Given the description of an element on the screen output the (x, y) to click on. 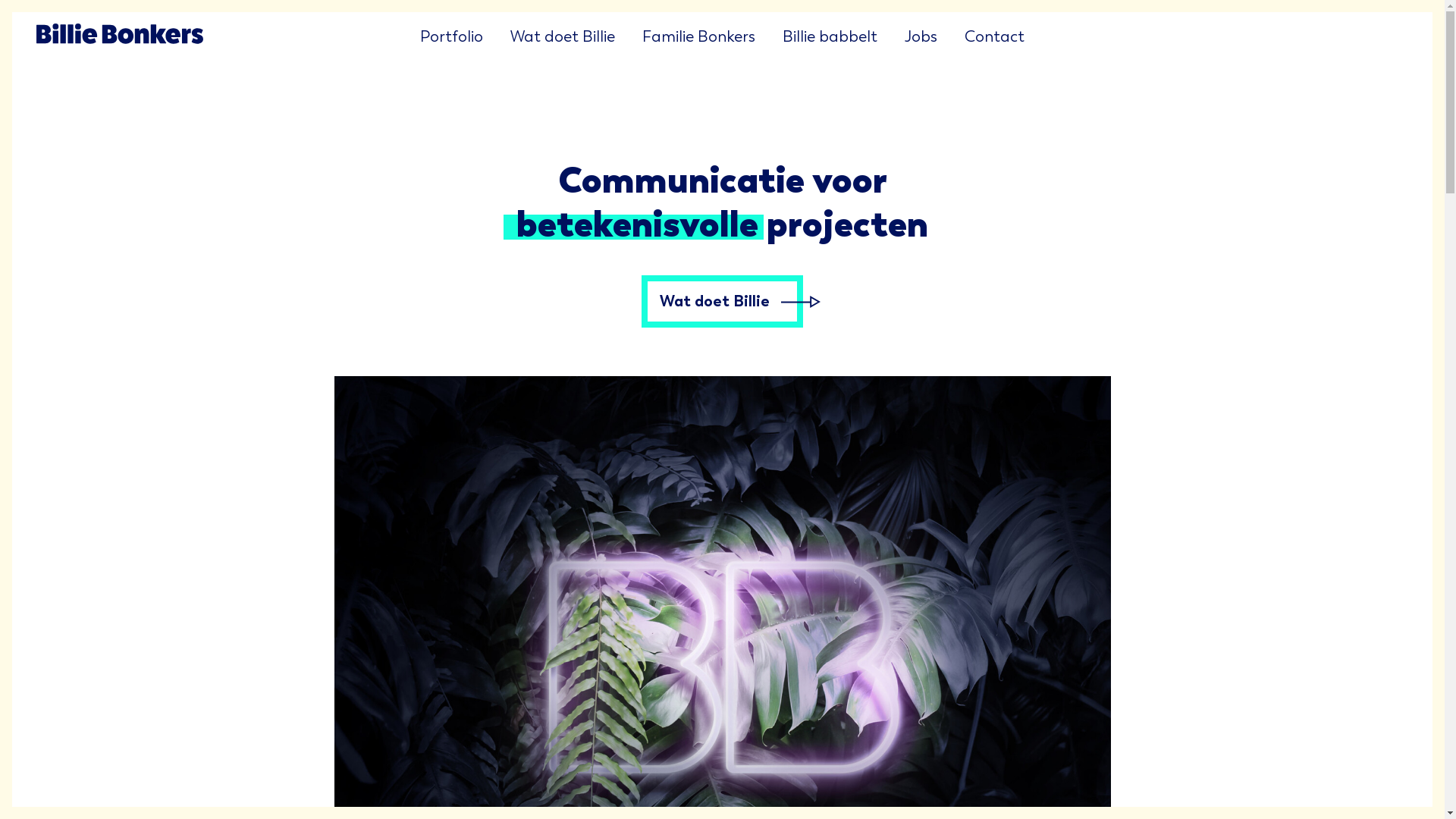
Contact Element type: text (994, 36)
Wat doet Billie Element type: text (722, 300)
Jobs Element type: text (920, 36)
Wat doet Billie Element type: text (562, 36)
Billie babbelt Element type: text (829, 36)
Familie Bonkers Element type: text (698, 36)
Portfolio Element type: text (451, 36)
Play Element type: text (727, 672)
